Given the description of an element on the screen output the (x, y) to click on. 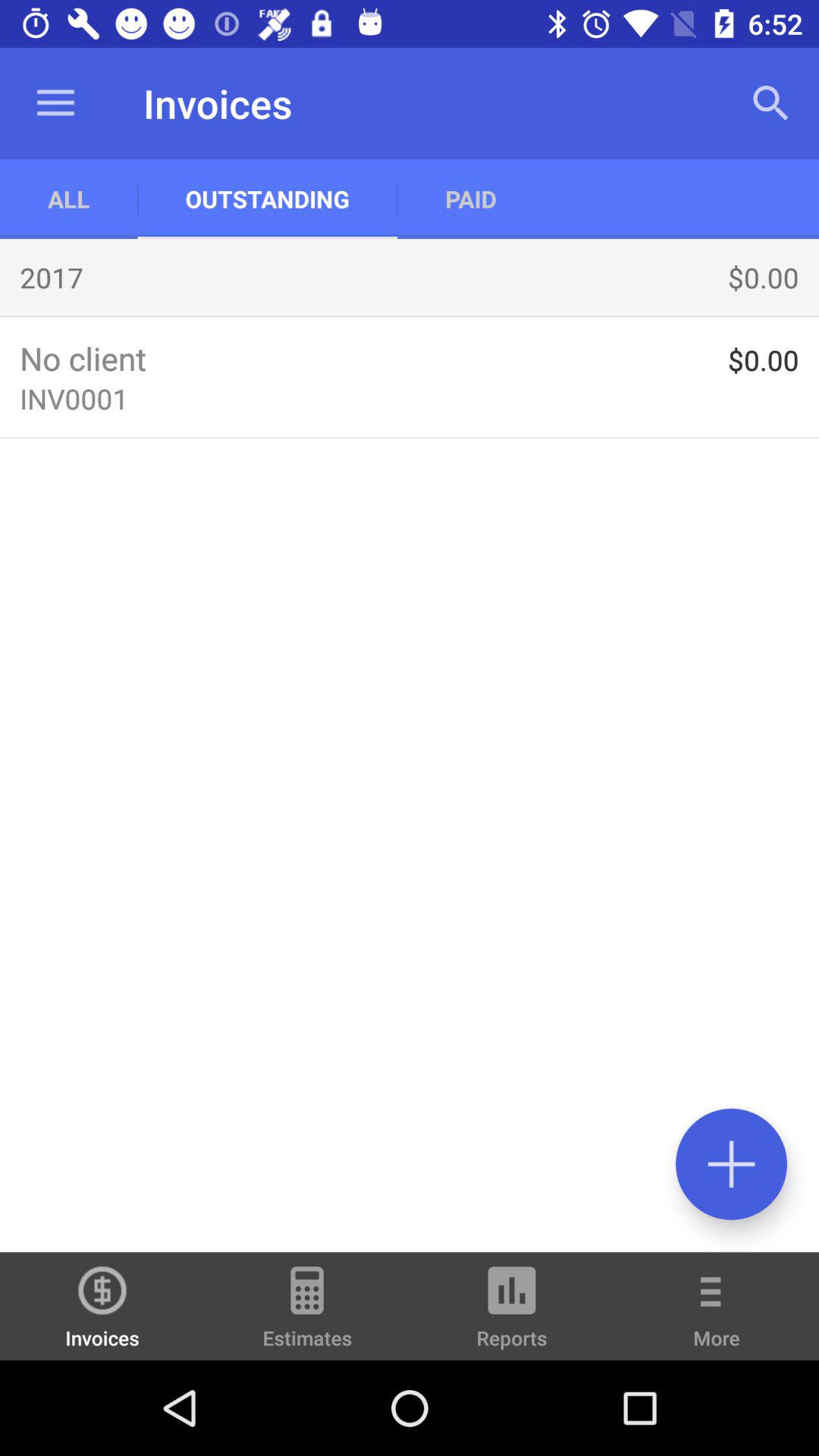
press the icon below 2017 (409, 316)
